Given the description of an element on the screen output the (x, y) to click on. 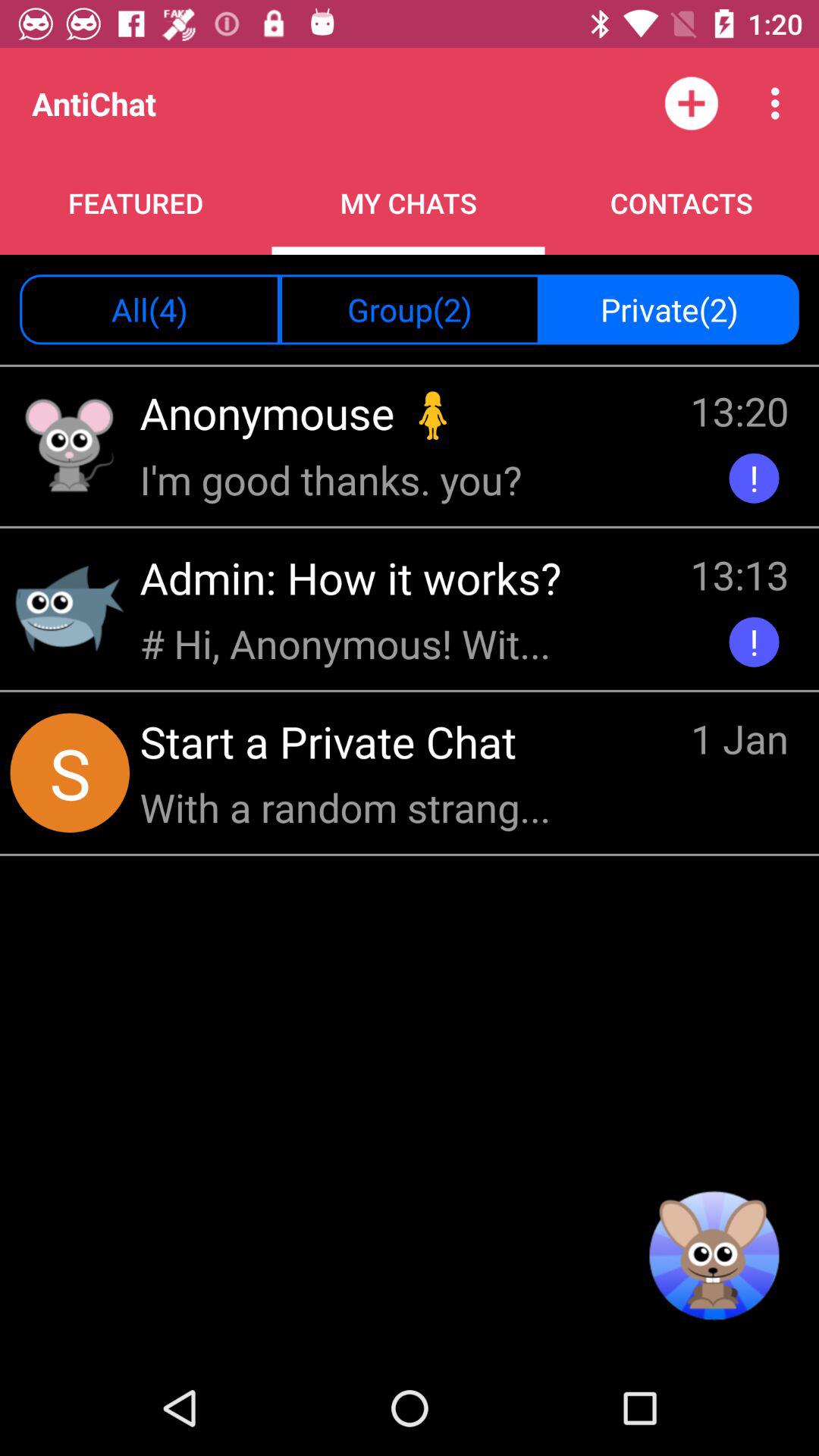
jump to admin how it (355, 577)
